Given the description of an element on the screen output the (x, y) to click on. 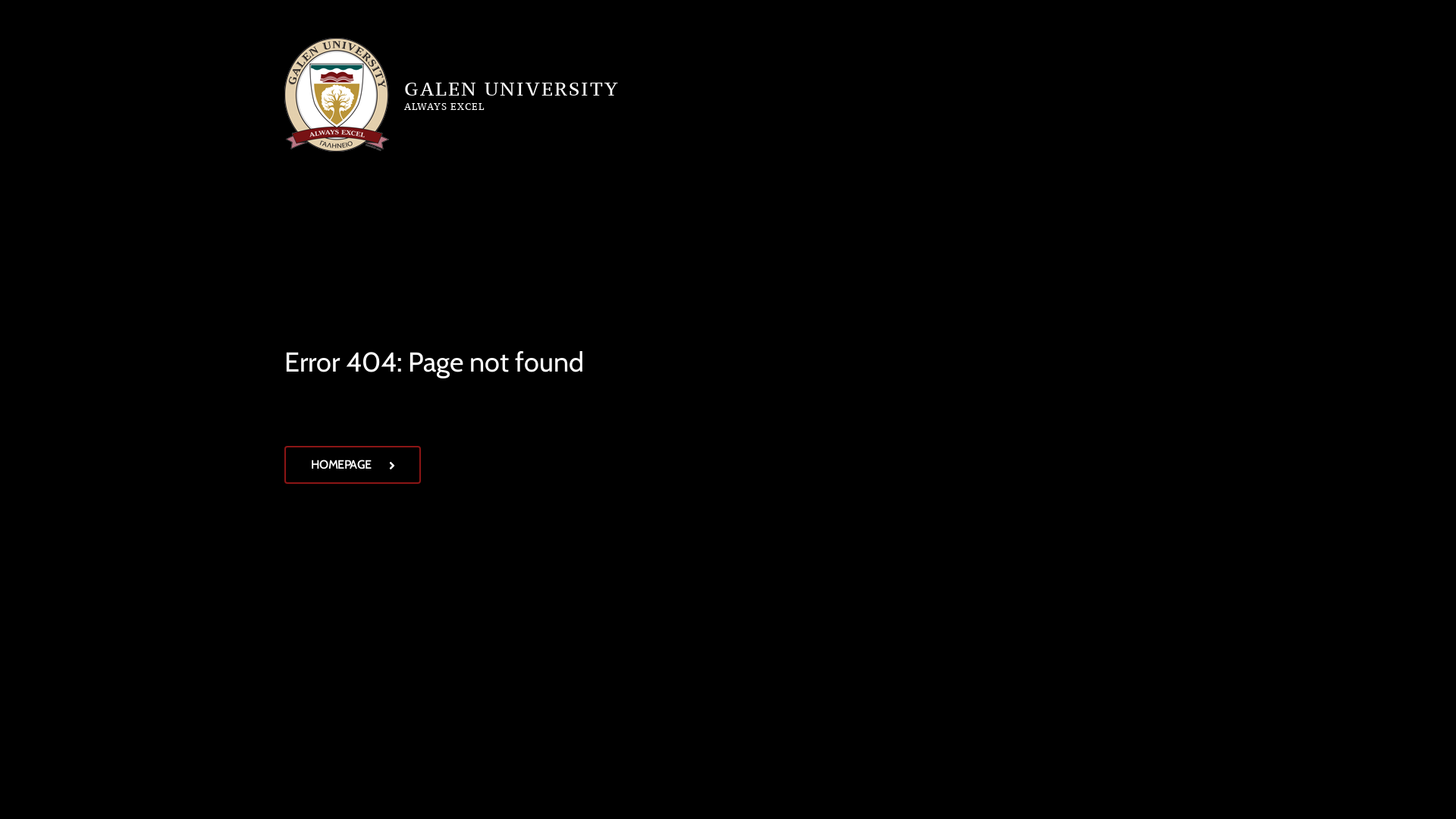
HOMEPAGE Element type: text (352, 464)
GALEN UNIVERSITY
ALWAYS EXCEL Element type: text (451, 94)
